Given the description of an element on the screen output the (x, y) to click on. 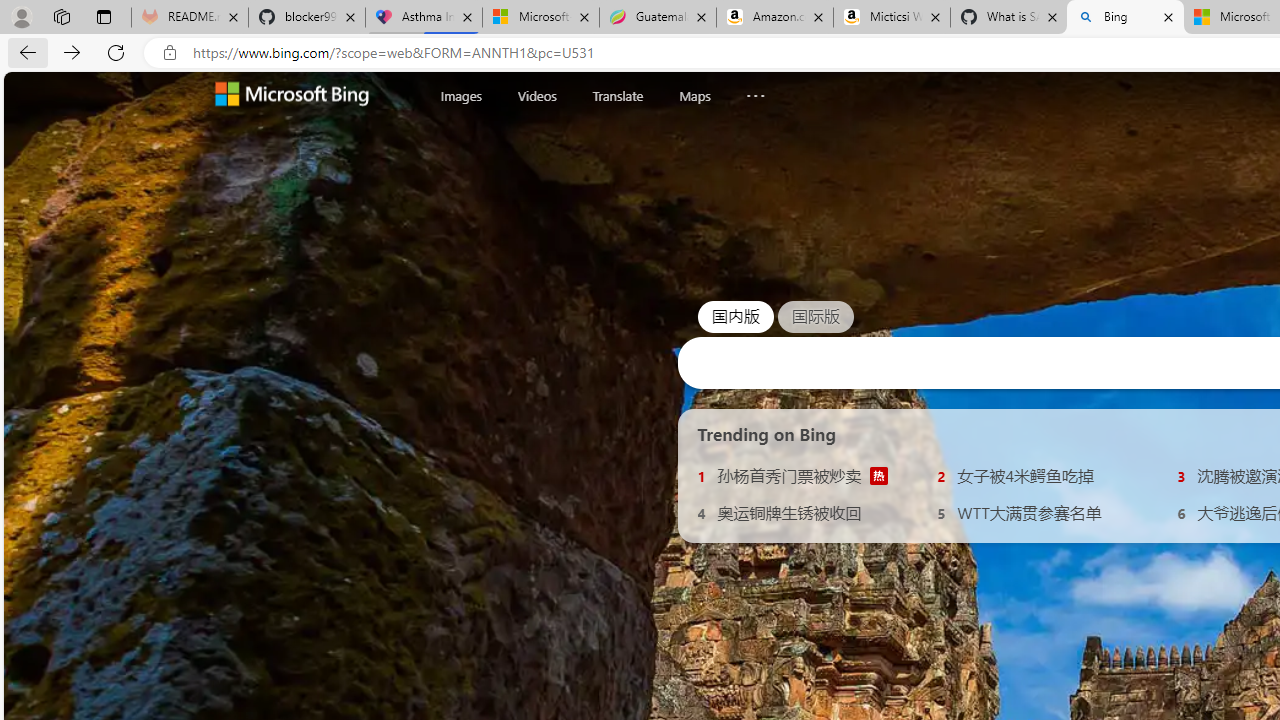
Translate (617, 95)
Welcome to Bing Search (291, 96)
Images (461, 95)
Class: scopes  (620, 95)
Translate (617, 95)
Maps (694, 95)
